Given the description of an element on the screen output the (x, y) to click on. 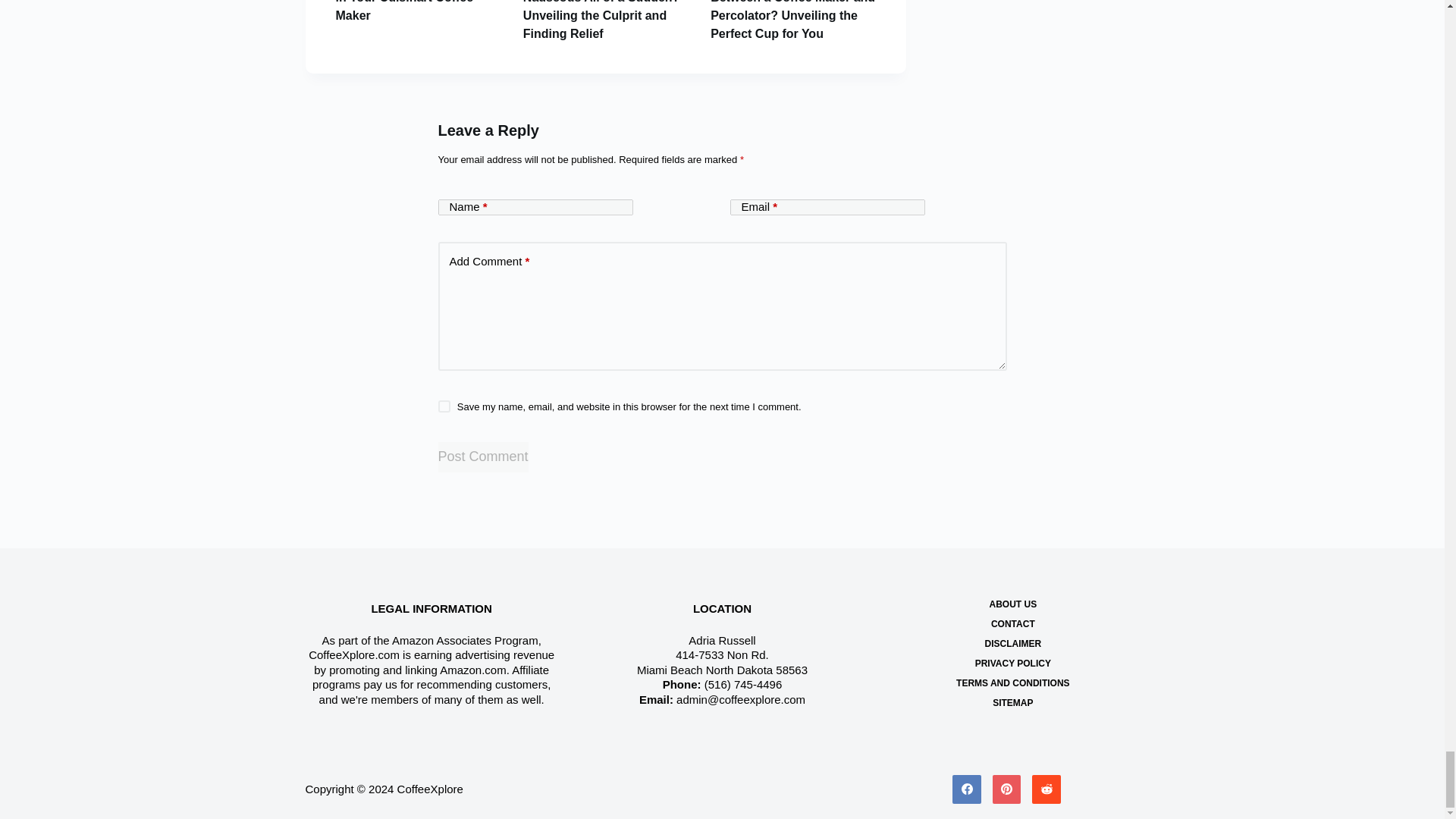
yes (443, 406)
